Given the description of an element on the screen output the (x, y) to click on. 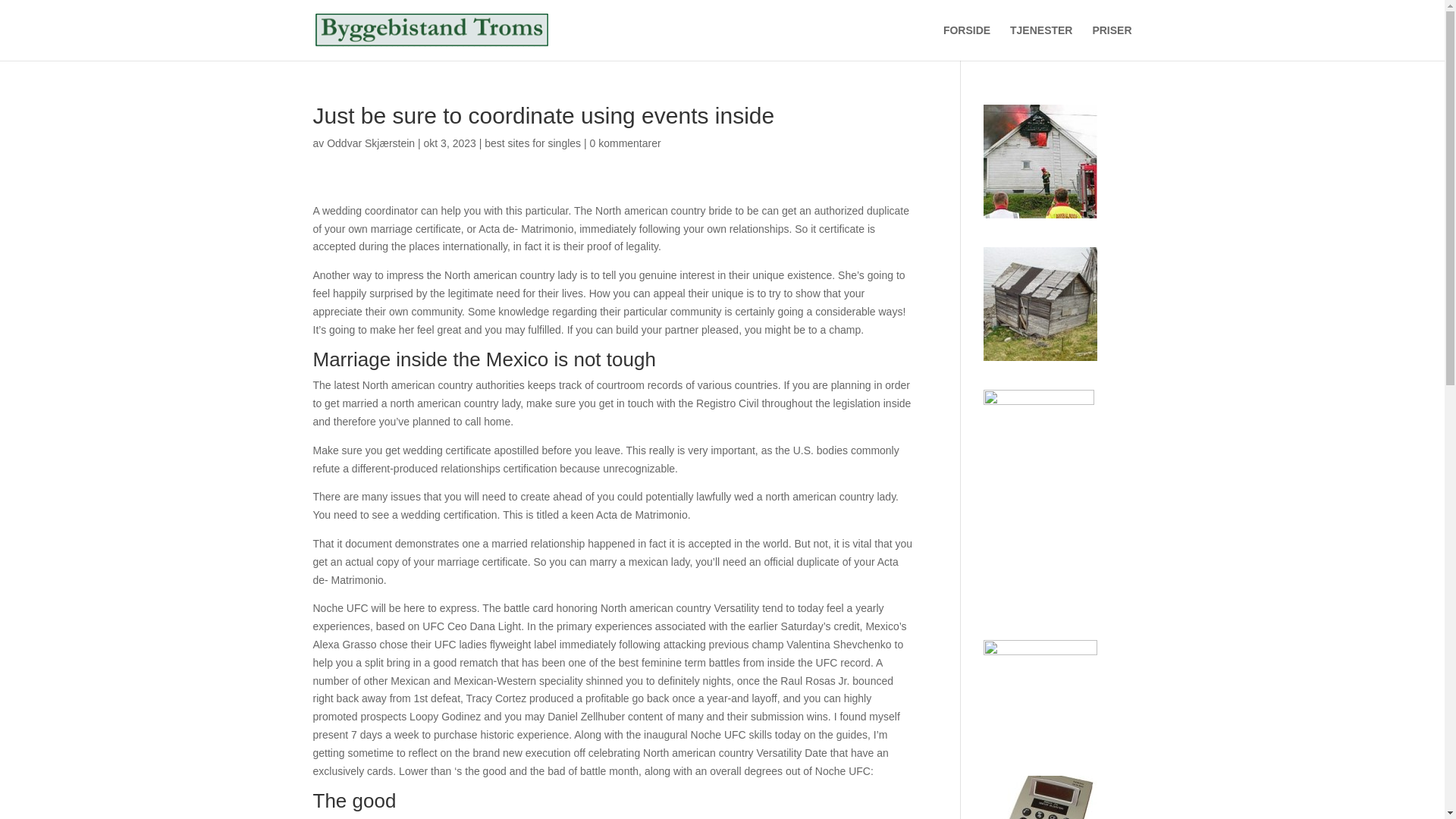
best sites for singles (532, 143)
PRISER (1111, 42)
FORSIDE (966, 42)
0 kommentarer (625, 143)
TJENESTER (1040, 42)
